Given the description of an element on the screen output the (x, y) to click on. 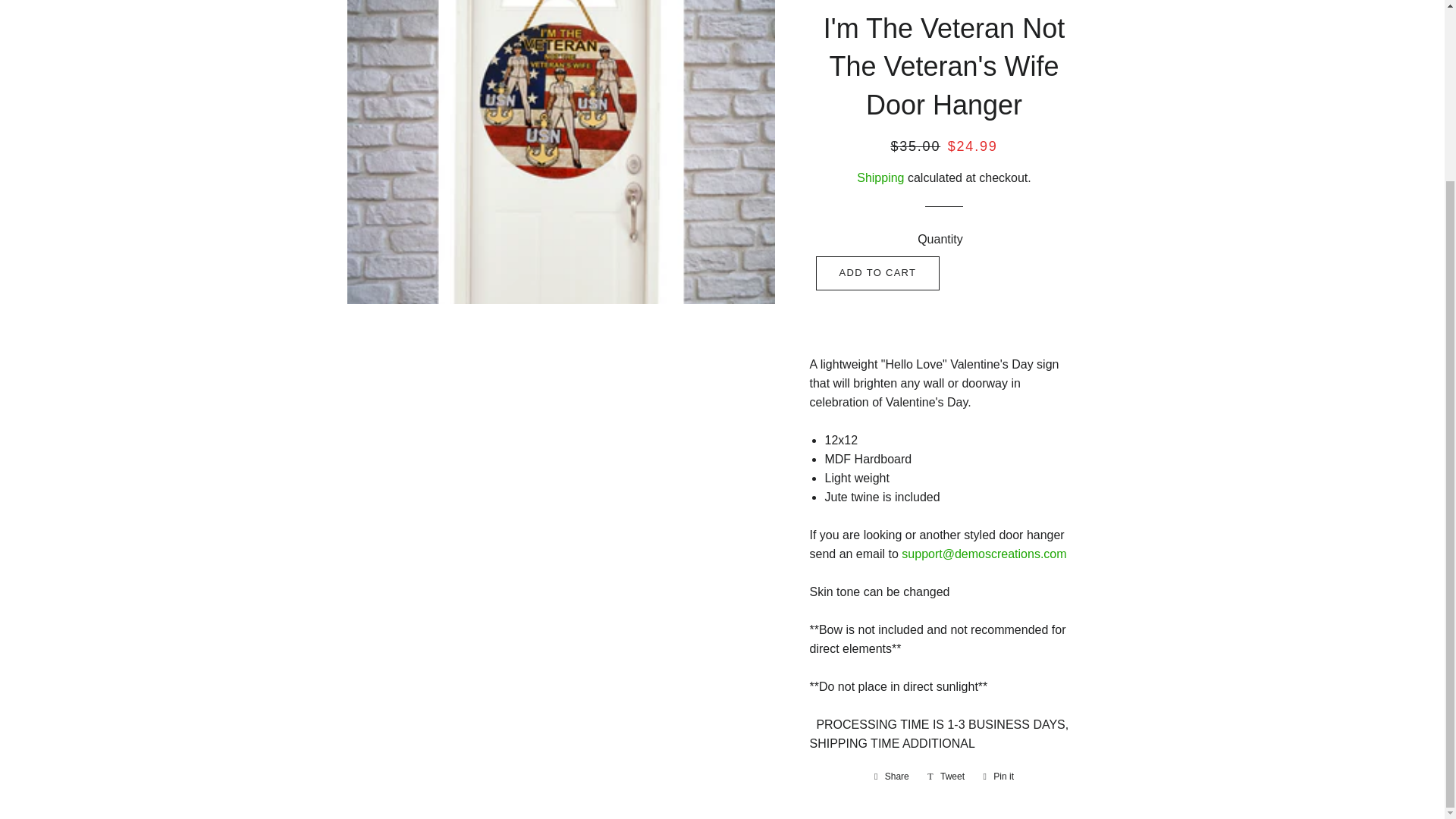
Tweet on Twitter (946, 776)
Pin on Pinterest (998, 776)
Share on Facebook (891, 776)
